Given the description of an element on the screen output the (x, y) to click on. 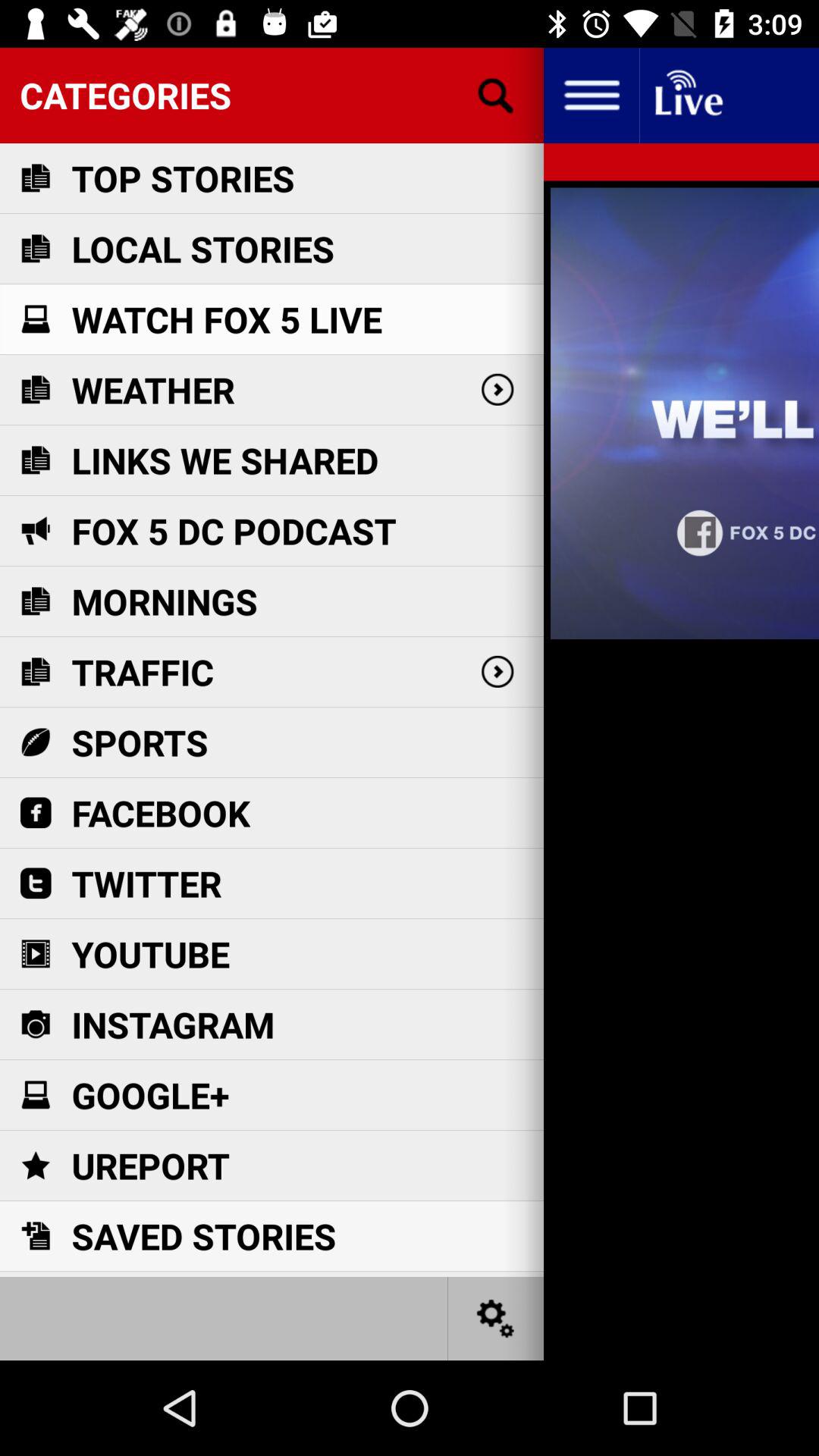
press the icon below the top stories icon (202, 248)
